Given the description of an element on the screen output the (x, y) to click on. 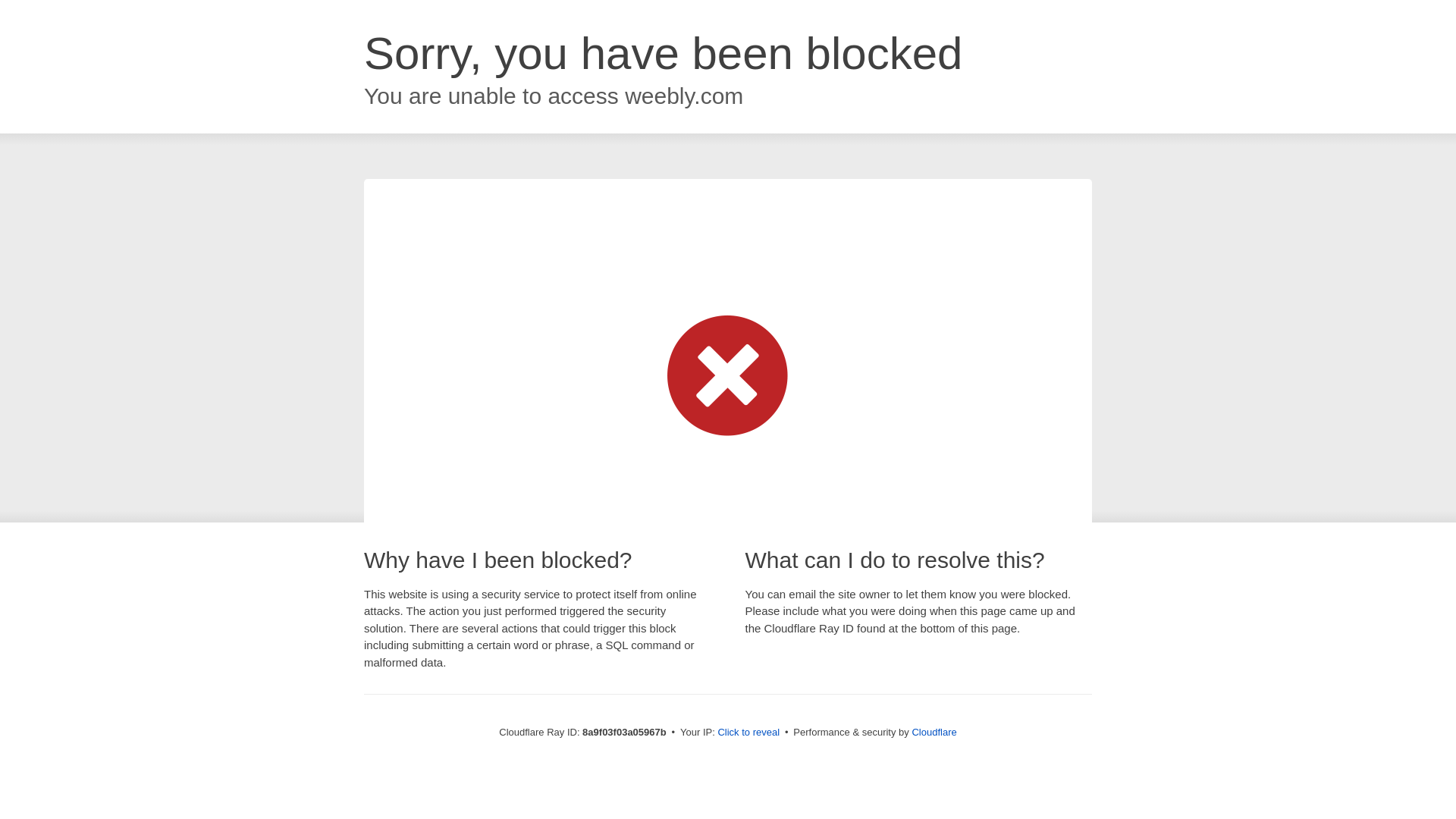
Click to reveal (747, 732)
Cloudflare (933, 731)
